Given the description of an element on the screen output the (x, y) to click on. 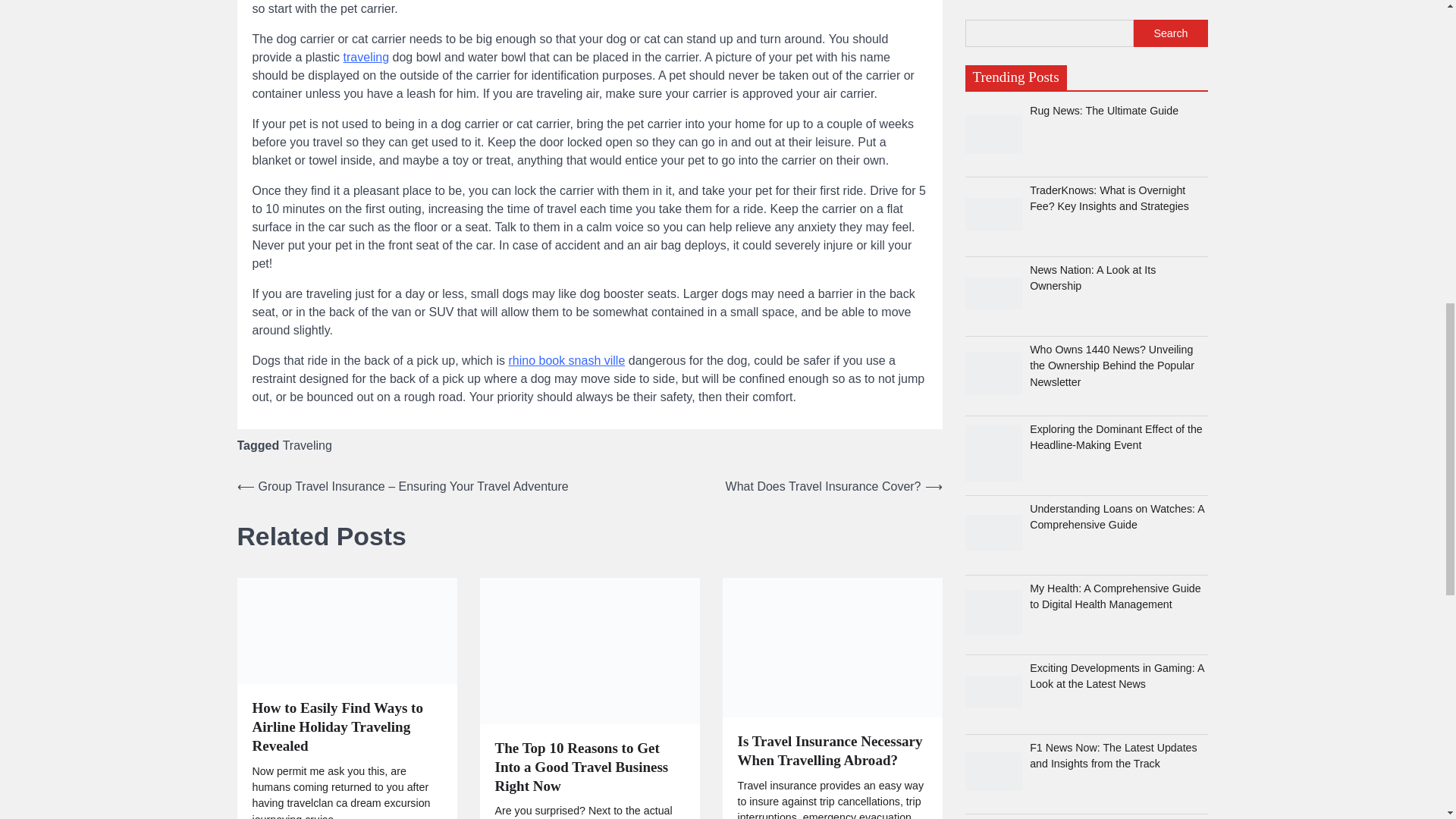
traveling (365, 56)
Instructions to Clean a Ring with Man Made Jewels (992, 186)
Exciting Developments in Gaming: A Look at the Latest News (992, 27)
Is Travel Insurance Necessary When Travelling Abroad? (832, 648)
F1 News Now (992, 106)
rhino book snash ville (566, 359)
